Given the description of an element on the screen output the (x, y) to click on. 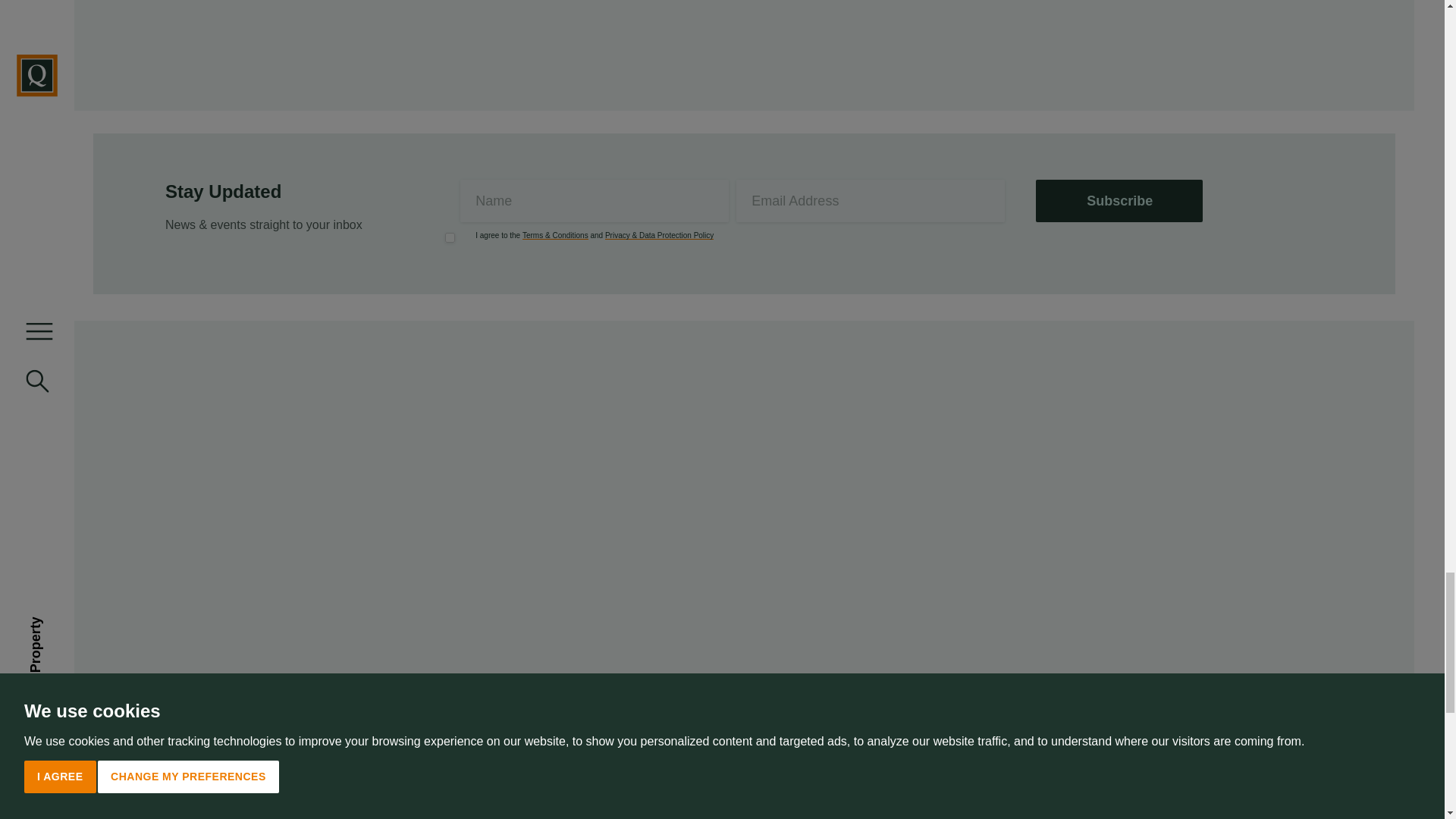
1 (449, 237)
